Given the description of an element on the screen output the (x, y) to click on. 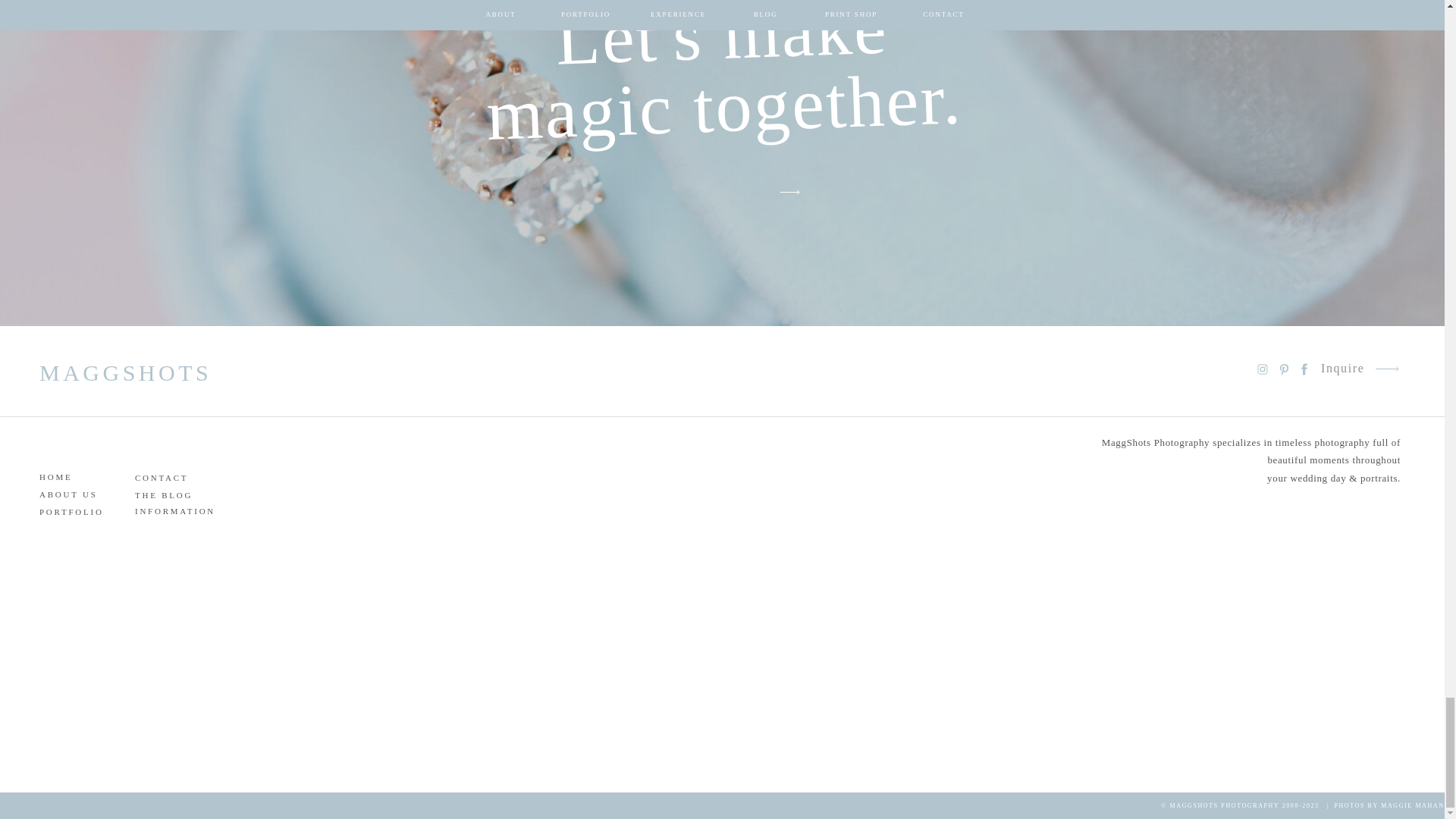
arrow (789, 191)
arrow (1386, 368)
